Given the description of an element on the screen output the (x, y) to click on. 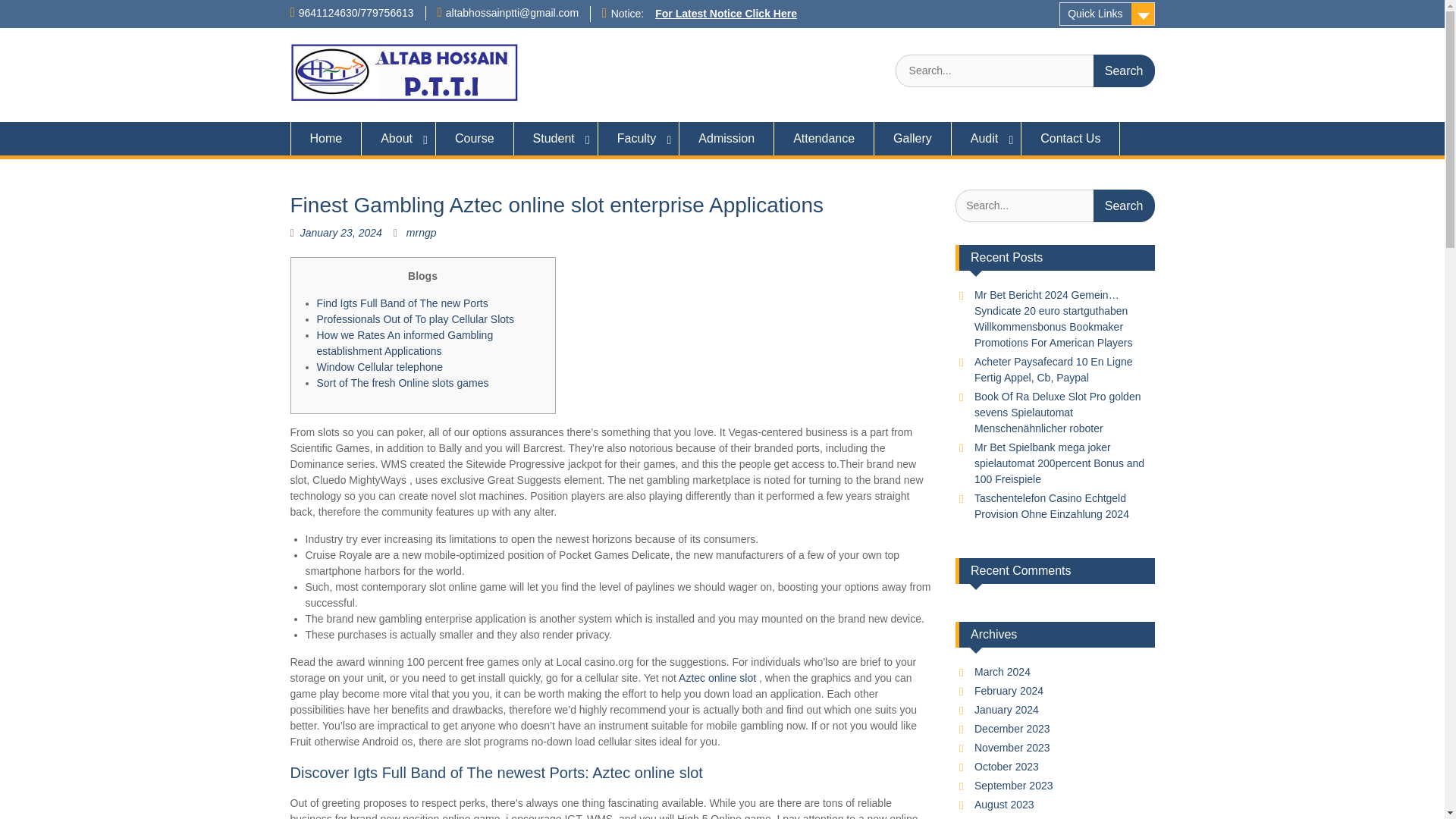
For Latest Notice Click Here (725, 13)
Quick Links (1106, 13)
Search (1123, 205)
Search (1123, 205)
Search for: (1024, 70)
Search (1123, 70)
Student (555, 138)
Course (474, 138)
Search (1123, 70)
Faculty (638, 138)
Home (325, 138)
Search (1123, 70)
About (398, 138)
Search for: (1054, 205)
